Given the description of an element on the screen output the (x, y) to click on. 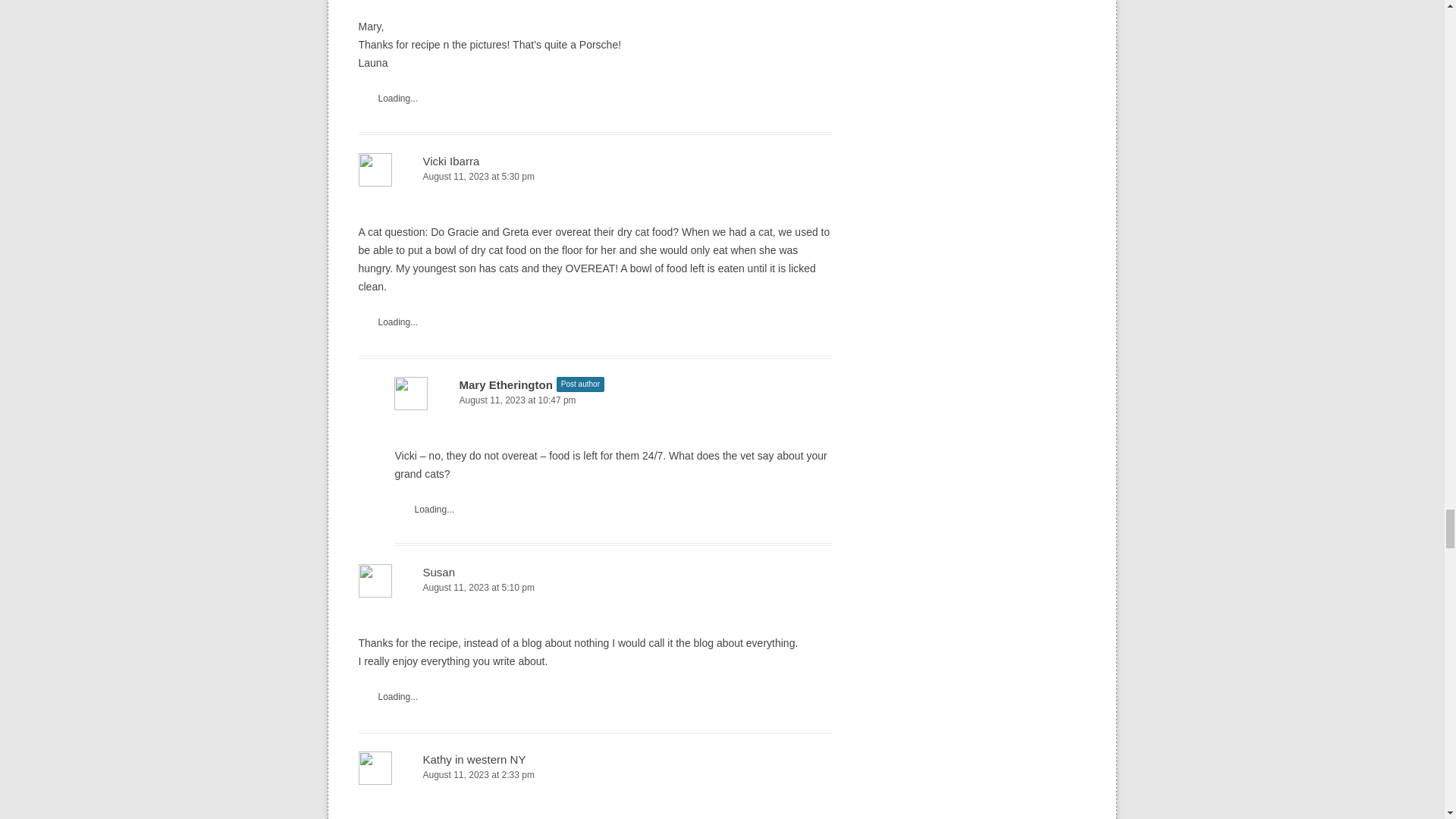
August 11, 2023 at 2:33 pm (594, 774)
August 11, 2023 at 10:47 pm (612, 400)
August 11, 2023 at 5:30 pm (594, 176)
August 11, 2023 at 5:10 pm (594, 587)
